Given the description of an element on the screen output the (x, y) to click on. 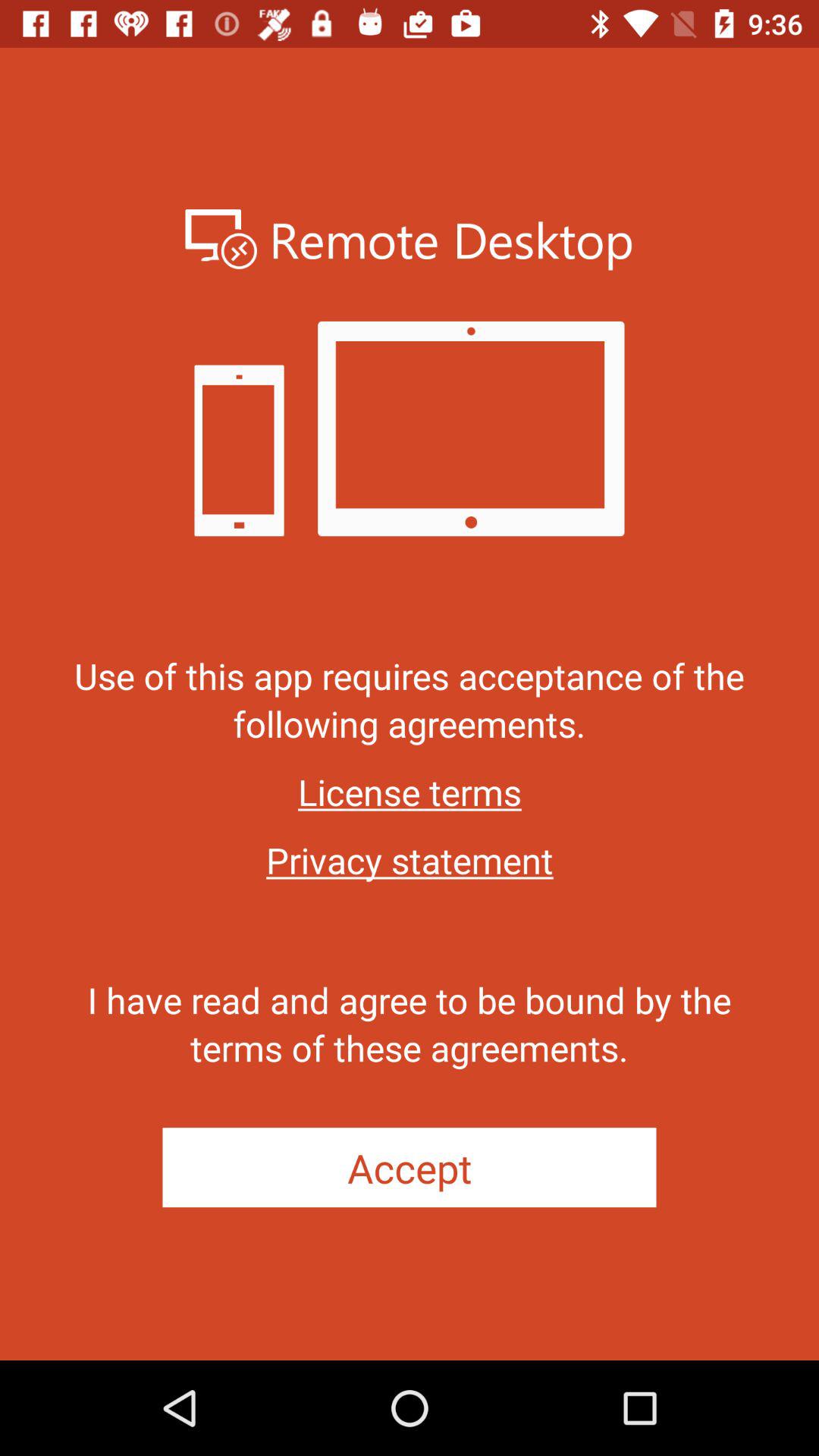
tap item below license terms icon (409, 860)
